Given the description of an element on the screen output the (x, y) to click on. 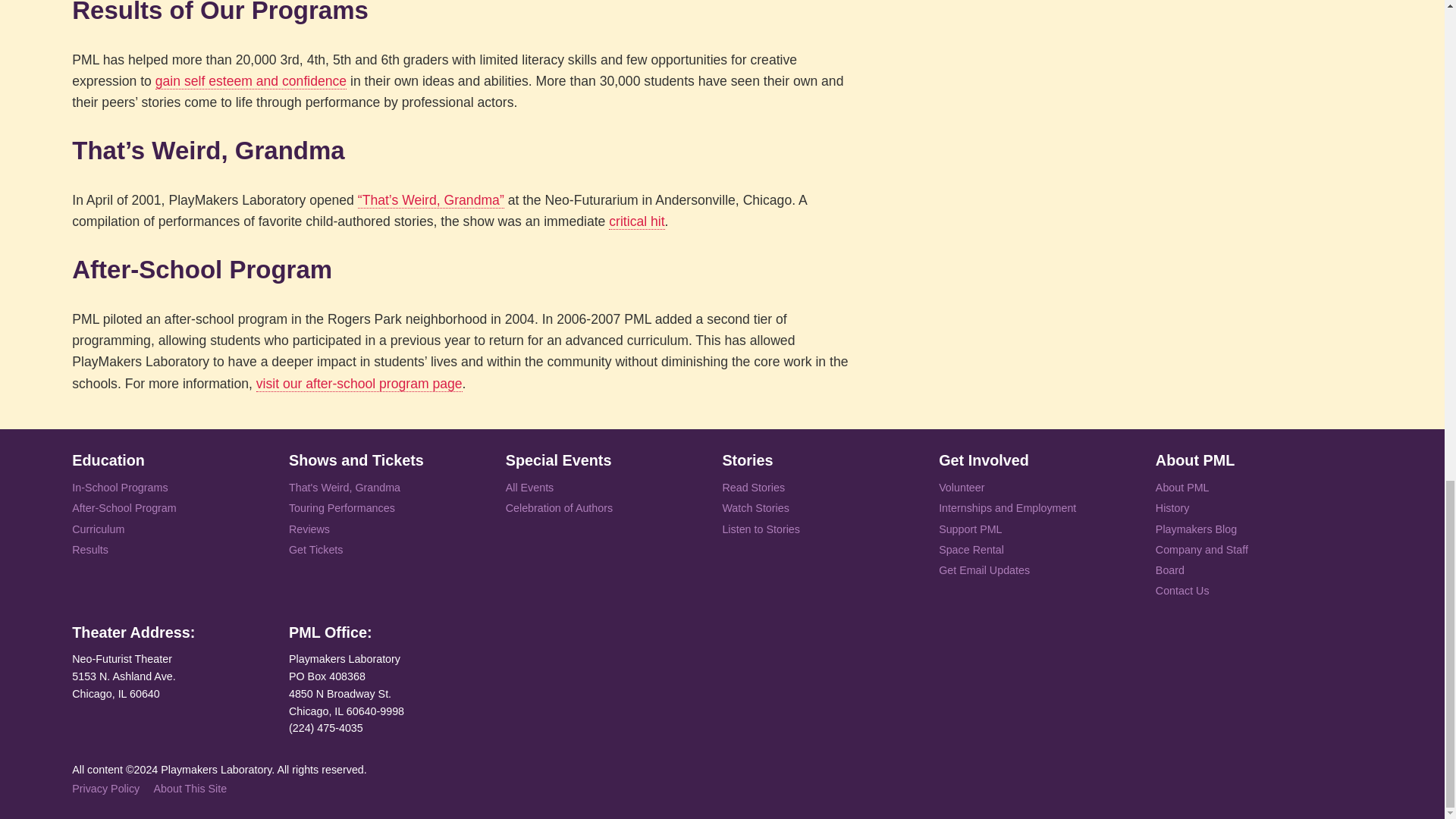
Results (89, 549)
Get Tickets (315, 549)
Touring Performances (341, 508)
After-School Program (123, 508)
Watch Stories (755, 508)
Curriculum (97, 529)
gain self esteem and confidence (250, 81)
Read Stories (753, 487)
All Events (529, 487)
Celebration of Authors (558, 508)
visit our after-school program page (359, 383)
In-School Programs (119, 487)
That's Weird, Grandma (344, 487)
Reviews (309, 529)
critical hit (635, 221)
